Given the description of an element on the screen output the (x, y) to click on. 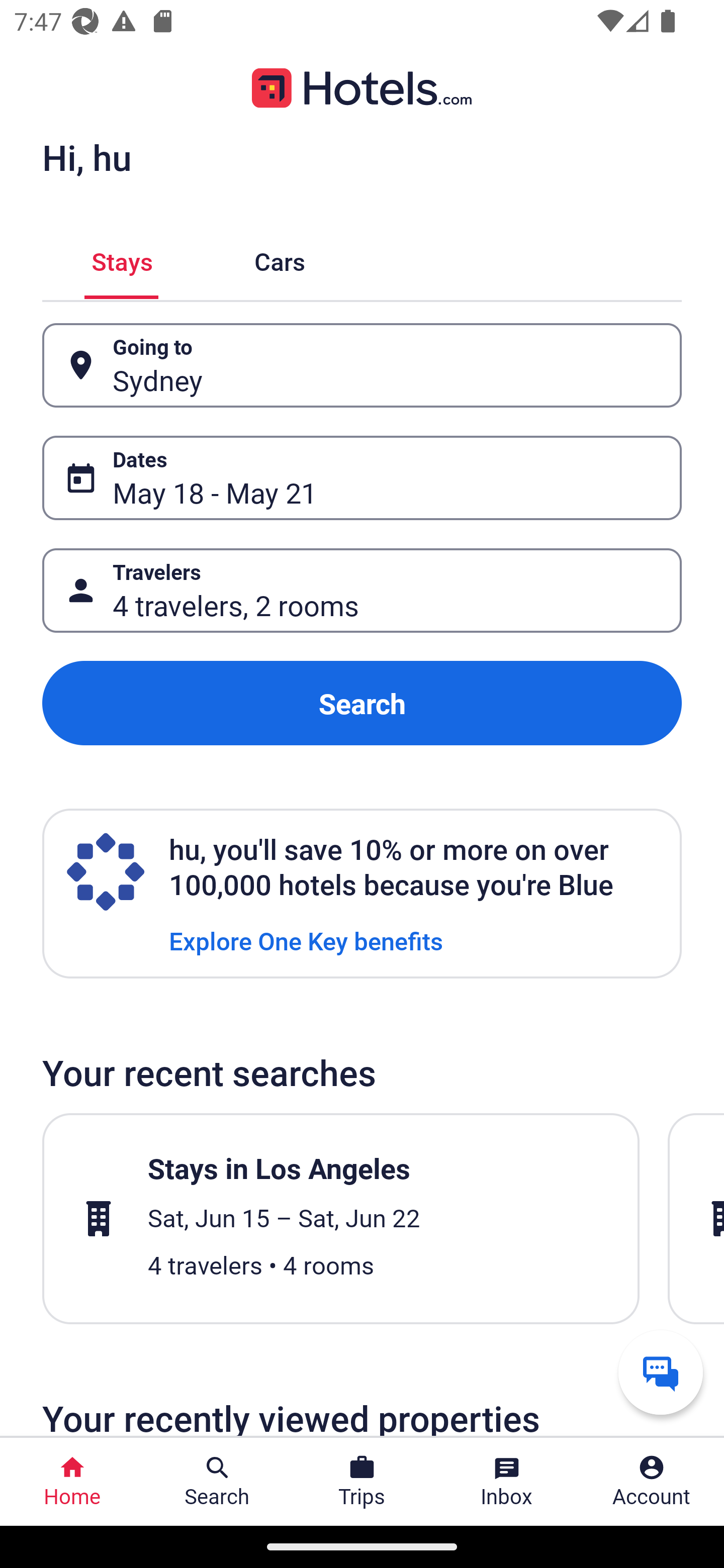
Hi, hu (86, 156)
Cars (279, 259)
Going to Button Sydney (361, 365)
Dates Button May 18 - May 21 (361, 477)
Travelers Button 4 travelers, 2 rooms (361, 590)
Search (361, 702)
Get help from a virtual agent (660, 1371)
Search Search Button (216, 1481)
Trips Trips Button (361, 1481)
Inbox Inbox Button (506, 1481)
Account Profile. Button (651, 1481)
